Given the description of an element on the screen output the (x, y) to click on. 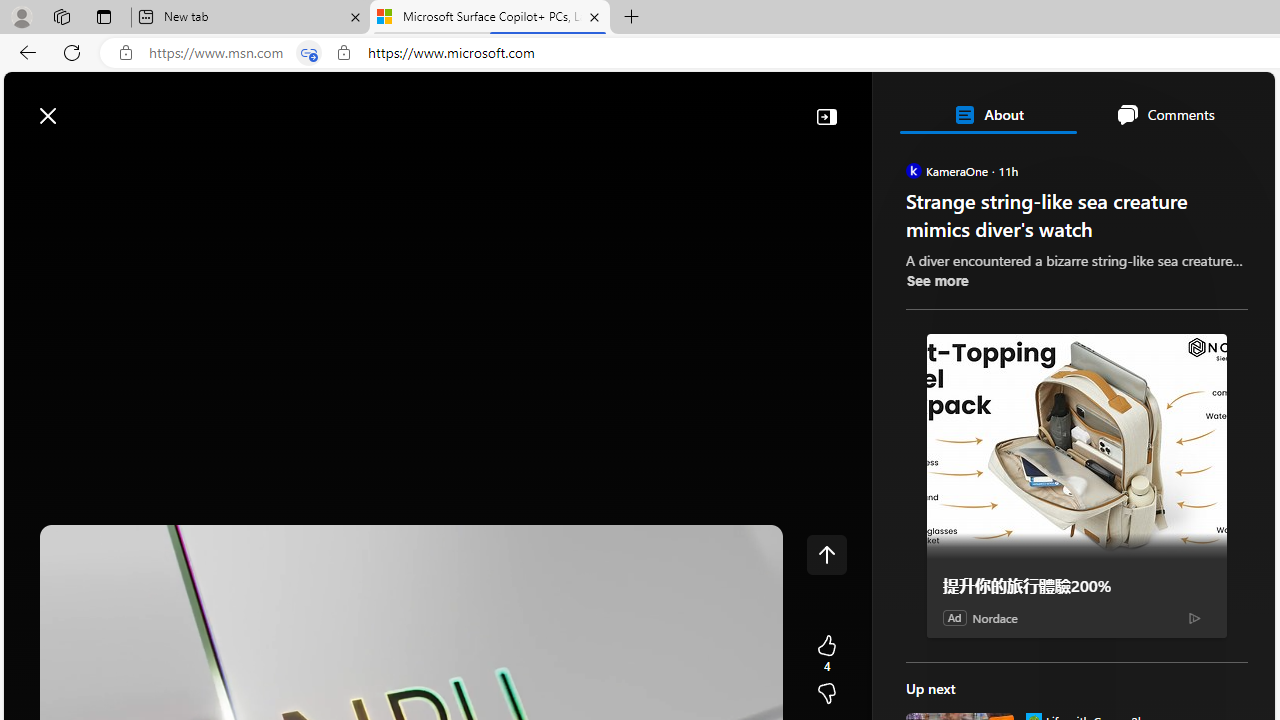
Skip to content (86, 105)
Collapse (826, 115)
Notifications (1190, 105)
Tabs in split screen (308, 53)
KameraOne (912, 170)
About (987, 114)
Watch (249, 162)
